Given the description of an element on the screen output the (x, y) to click on. 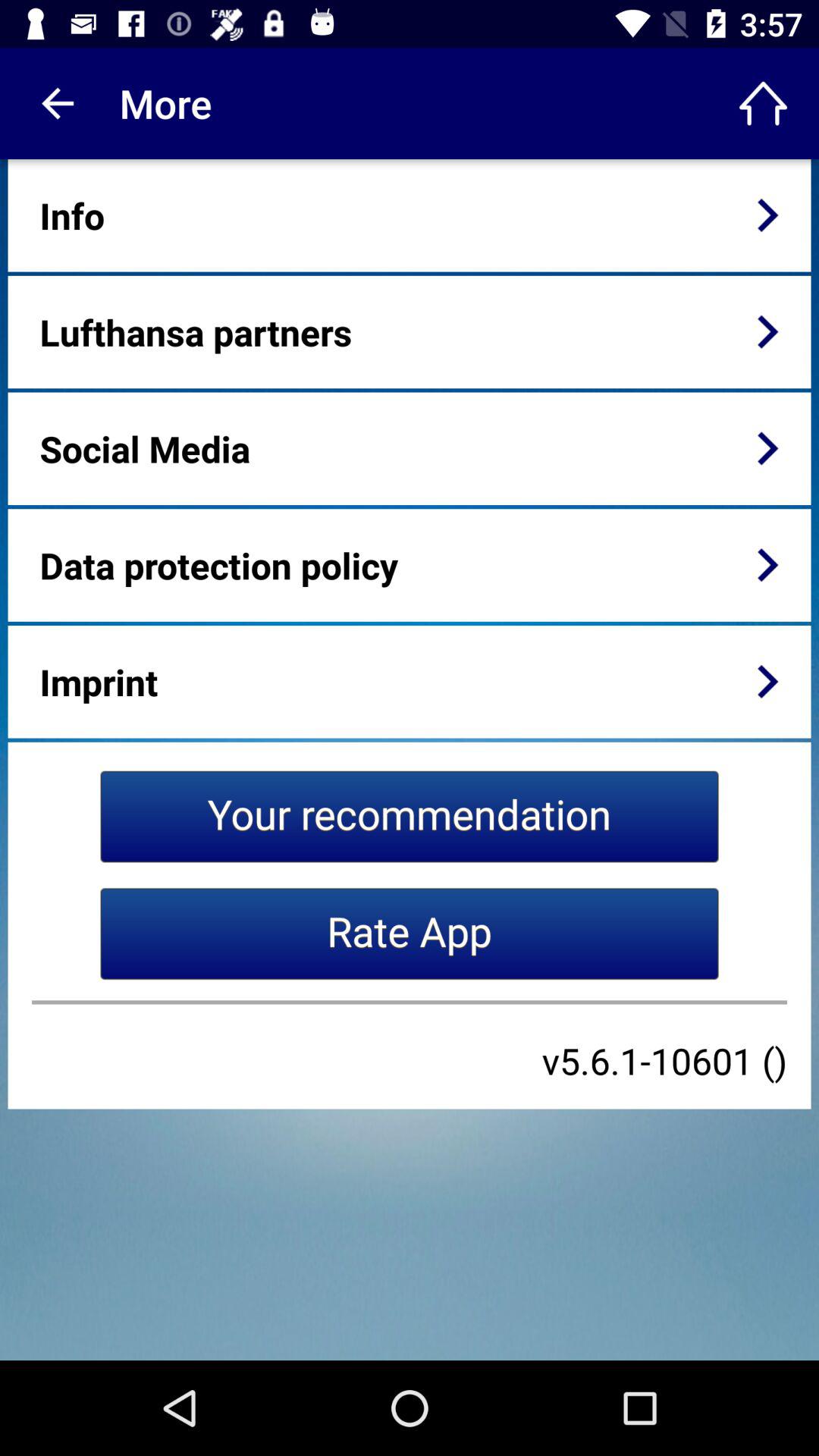
launch the icon above the info (55, 103)
